Given the description of an element on the screen output the (x, y) to click on. 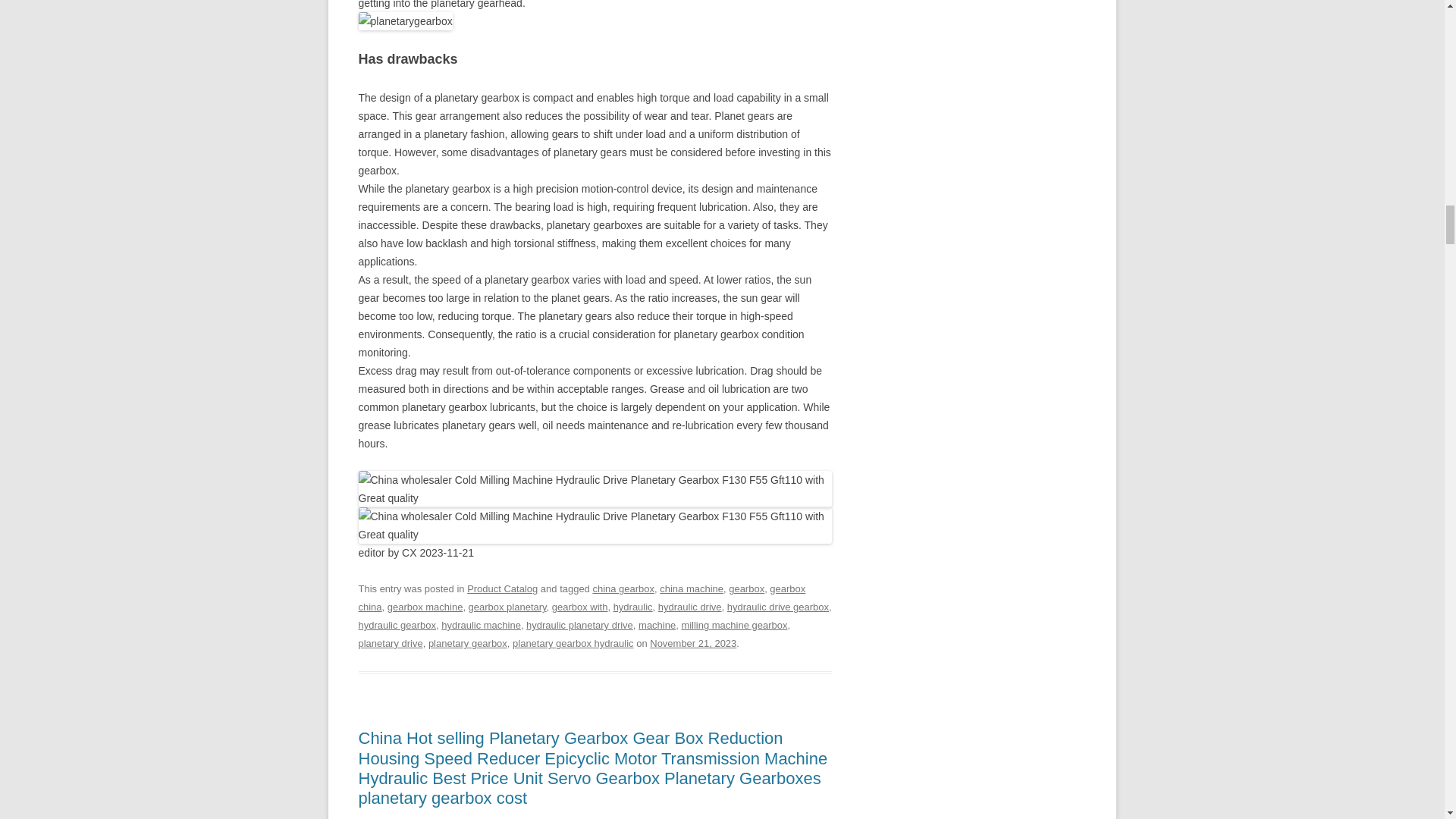
planetary drive (390, 643)
Product Catalog (502, 588)
gearbox machine (425, 606)
hydraulic machine (481, 624)
hydraulic drive gearbox (777, 606)
November 21, 2023 (692, 643)
gearbox (746, 588)
china machine (691, 588)
7:57 am (692, 643)
